Given the description of an element on the screen output the (x, y) to click on. 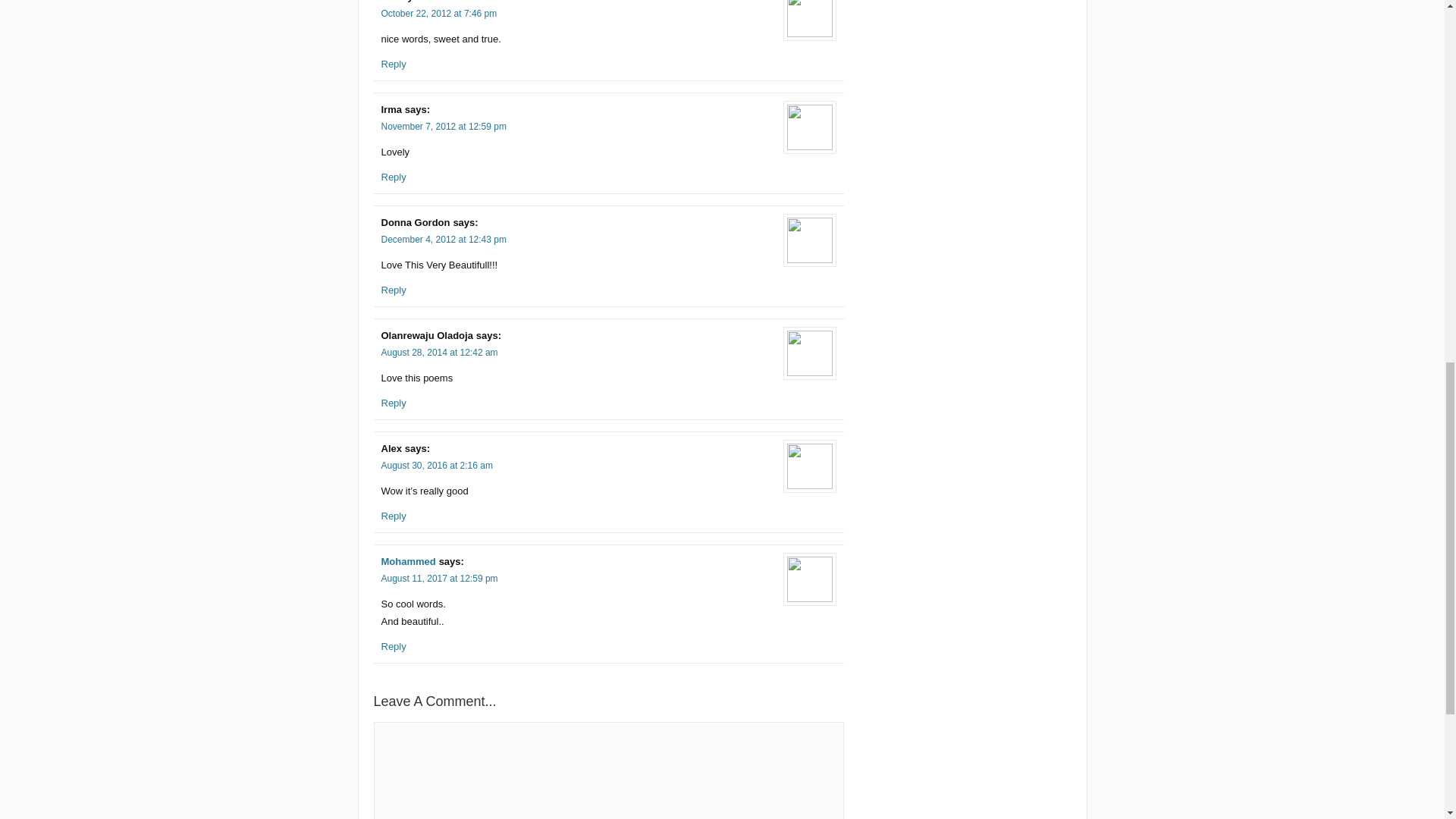
November 7, 2012 at 12:59 pm (442, 126)
Reply (393, 289)
August 30, 2016 at 2:16 am (436, 465)
August 11, 2017 at 12:59 pm (438, 578)
Mohammed (407, 561)
December 4, 2012 at 12:43 pm (442, 239)
Reply (393, 515)
Reply (393, 176)
Reply (393, 63)
Reply (393, 402)
August 28, 2014 at 12:42 am (438, 352)
October 22, 2012 at 7:46 pm (438, 13)
Reply (393, 645)
